Given the description of an element on the screen output the (x, y) to click on. 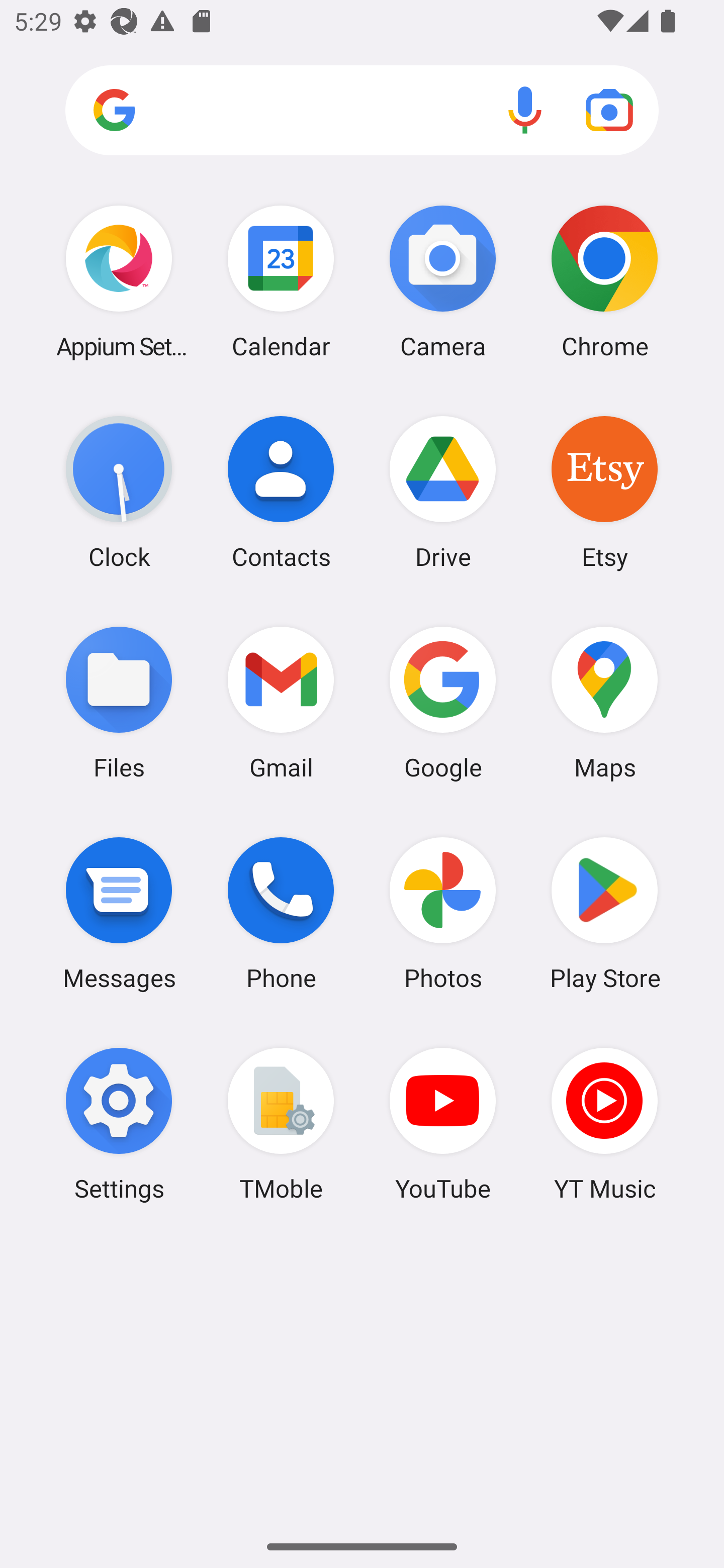
Search apps, web and more (361, 110)
Voice search (524, 109)
Google Lens (608, 109)
Appium Settings (118, 281)
Calendar (280, 281)
Camera (443, 281)
Chrome (604, 281)
Clock (118, 492)
Contacts (280, 492)
Drive (443, 492)
Etsy (604, 492)
Files (118, 702)
Gmail (280, 702)
Google (443, 702)
Maps (604, 702)
Messages (118, 913)
Phone (280, 913)
Photos (443, 913)
Play Store (604, 913)
Settings (118, 1124)
TMoble (280, 1124)
YouTube (443, 1124)
YT Music (604, 1124)
